Given the description of an element on the screen output the (x, y) to click on. 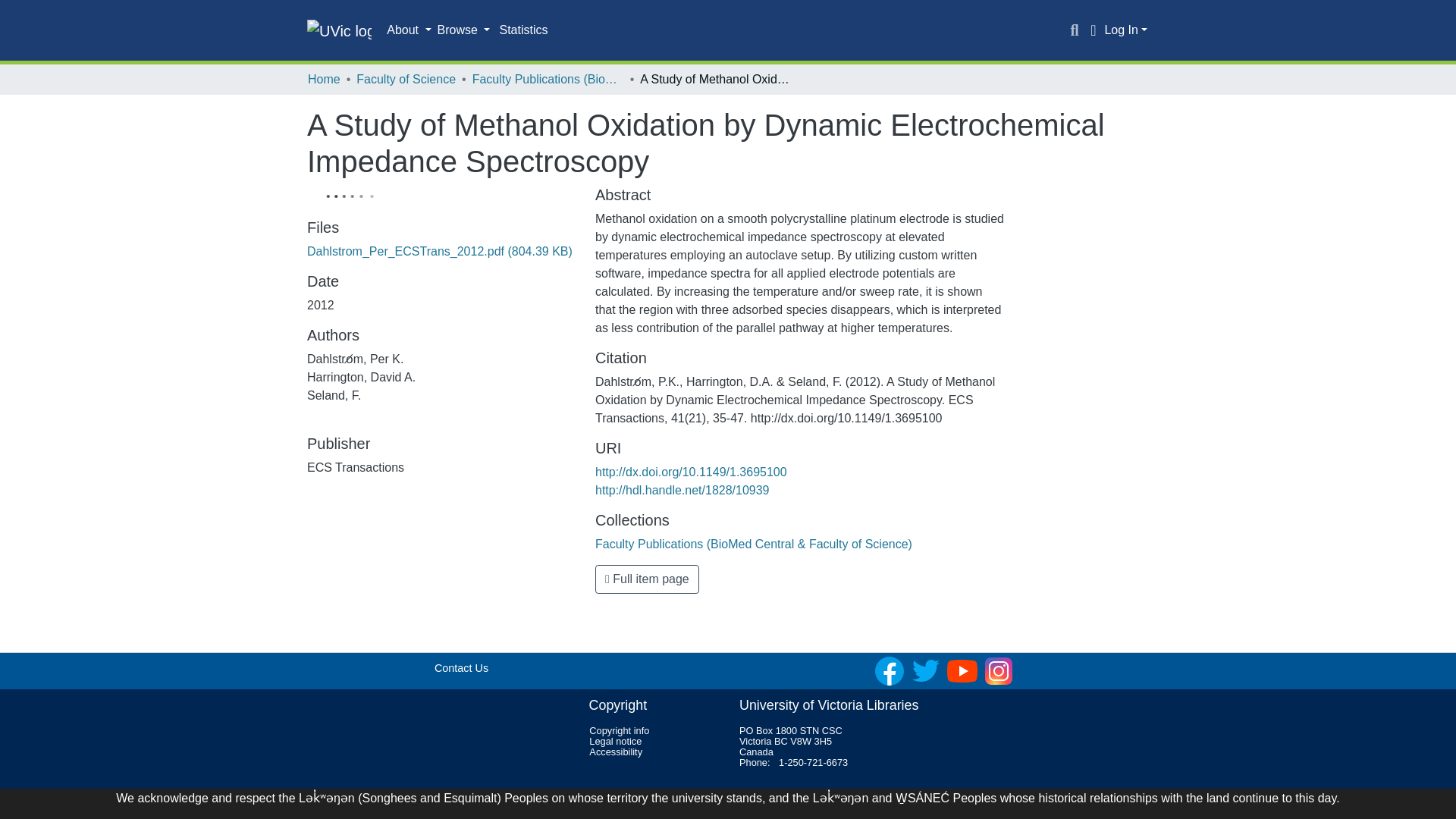
Search (1073, 30)
About (408, 30)
Log In (1125, 29)
Statistics (523, 30)
Browse (463, 30)
Contact Us (461, 667)
Home (323, 79)
Faculty of Science (405, 79)
Statistics (523, 30)
Language switch (1092, 30)
